Given the description of an element on the screen output the (x, y) to click on. 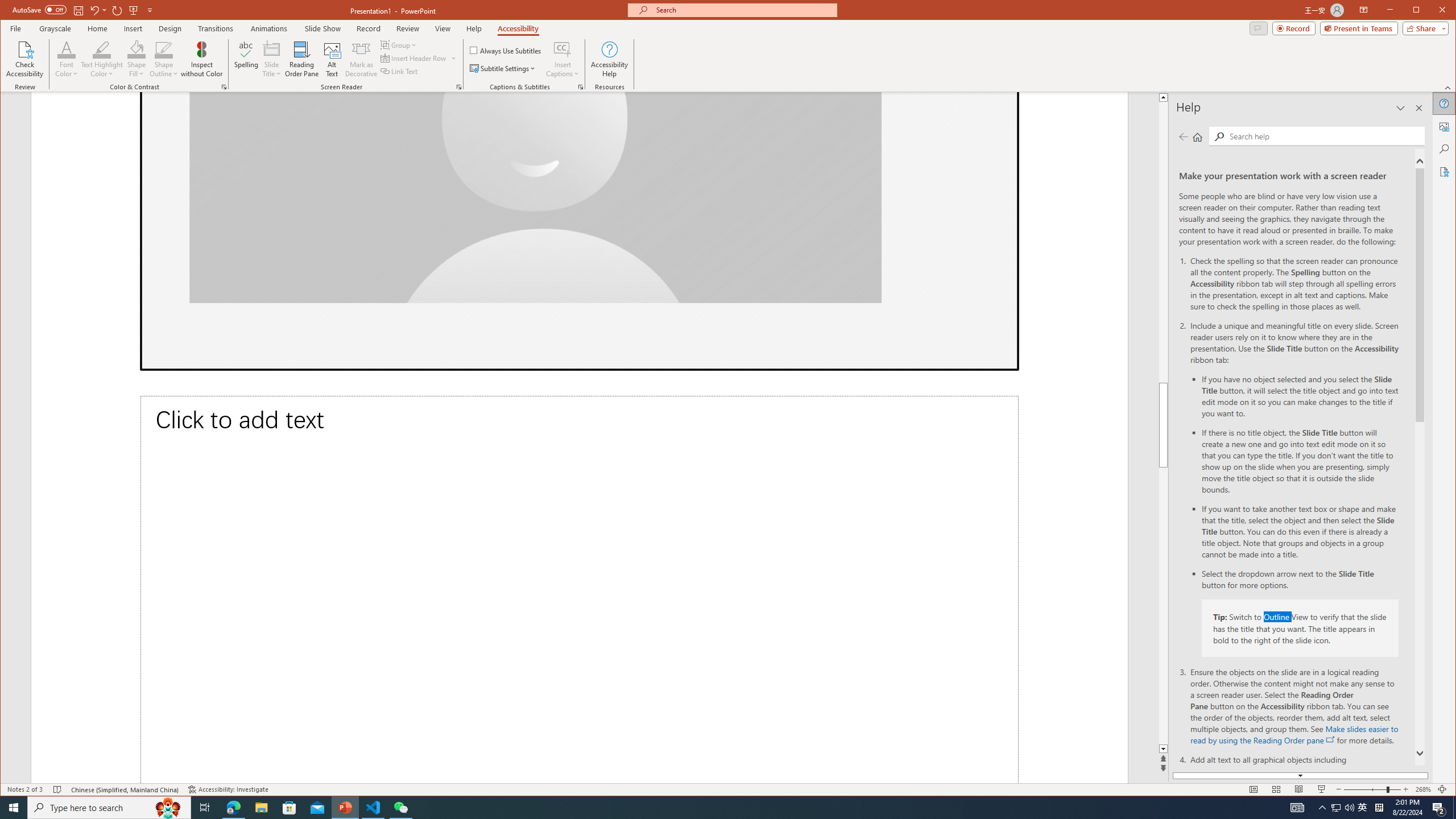
Reading Order Pane (301, 59)
Captions & Subtitles (580, 86)
